Given the description of an element on the screen output the (x, y) to click on. 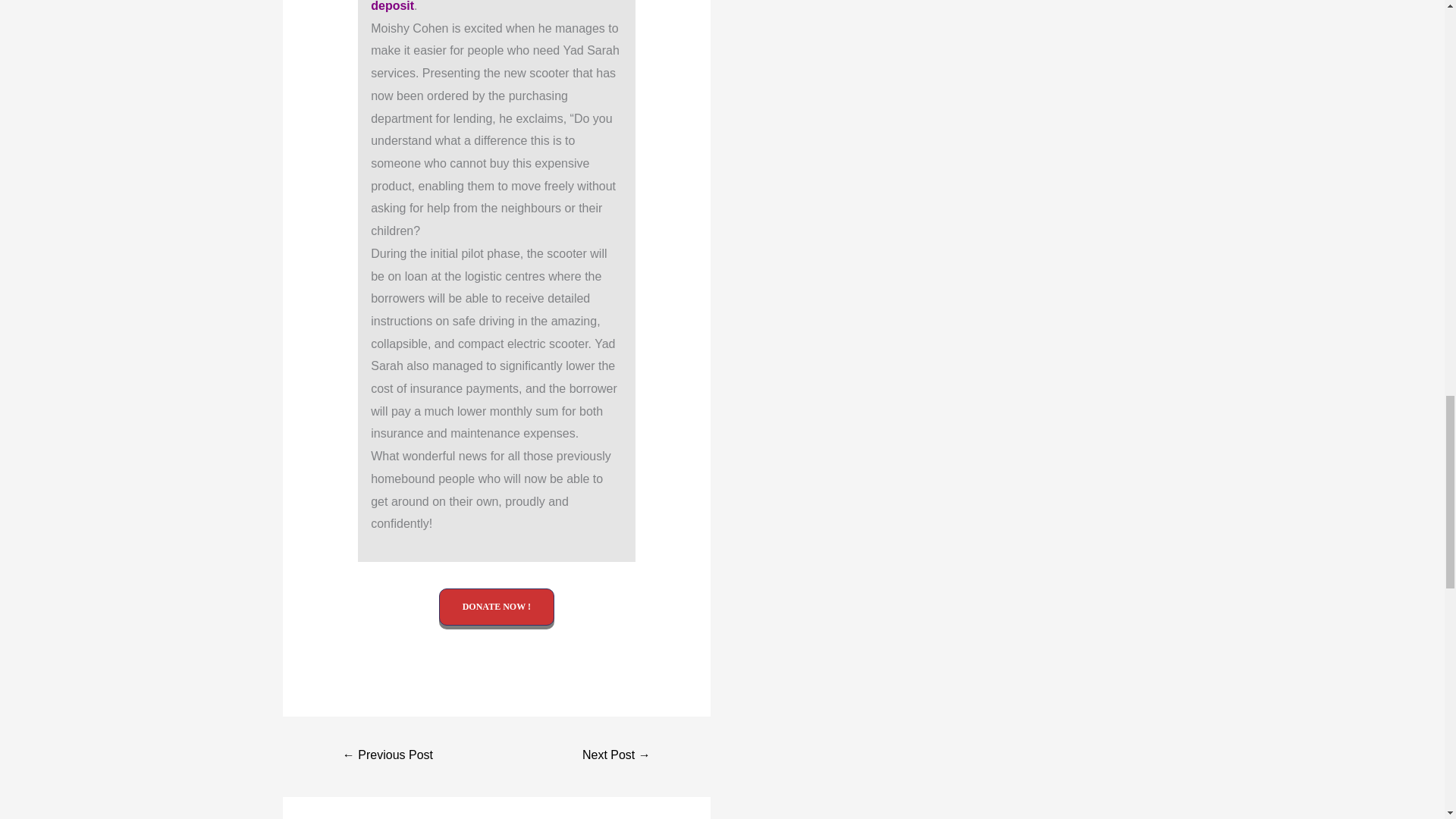
Living the Passion of Deceased Daughter (616, 756)
Urgent Care Center (387, 756)
